Given the description of an element on the screen output the (x, y) to click on. 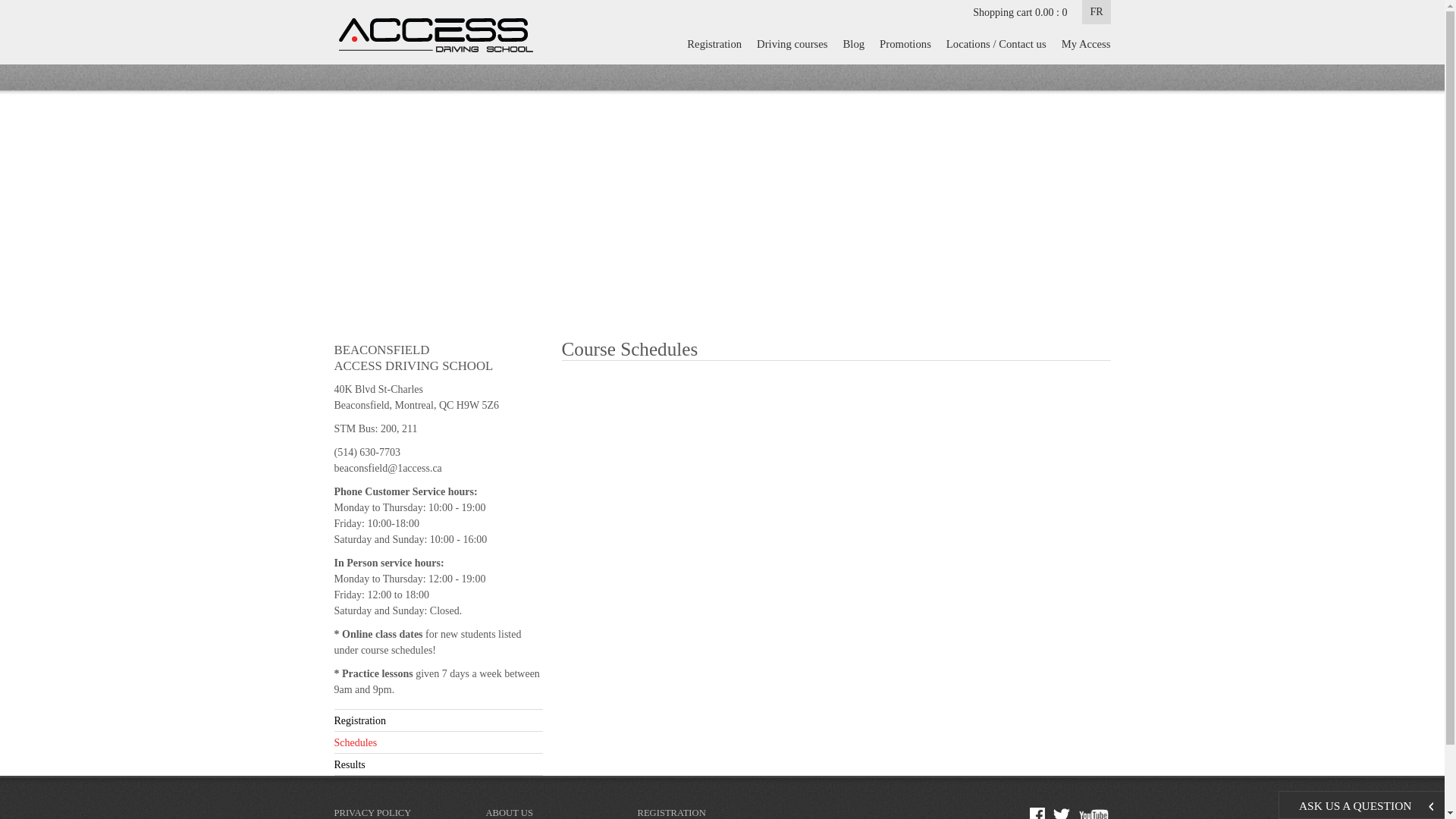
My Access Element type: text (1082, 43)
Beaconsfield Element type: text (452, 223)
Locations / Contact us Element type: text (996, 43)
Driving courses Element type: text (791, 43)
Schedules Element type: text (437, 743)
Shopping cart 0.00 : 0 Element type: text (1019, 12)
Results Element type: text (437, 765)
Registration Element type: text (437, 721)
Promotions Element type: text (905, 43)
Blog Element type: text (853, 43)
Registration Element type: text (714, 43)
